Given the description of an element on the screen output the (x, y) to click on. 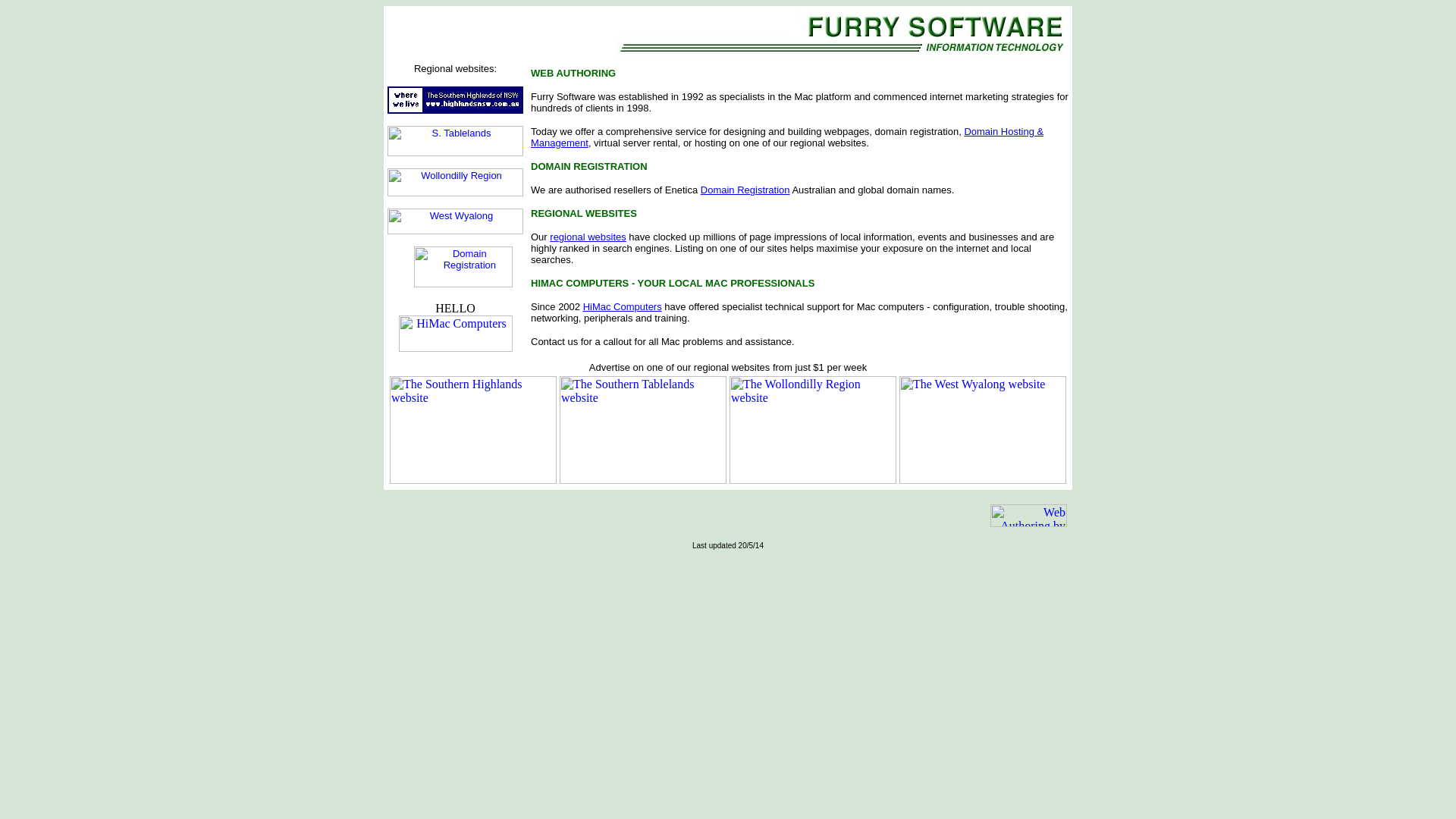
Domain Hosting & Management Element type: text (786, 136)
Domain Registration Element type: text (745, 189)
regional websites Element type: text (587, 236)
HiMac Computers Element type: text (622, 306)
